Given the description of an element on the screen output the (x, y) to click on. 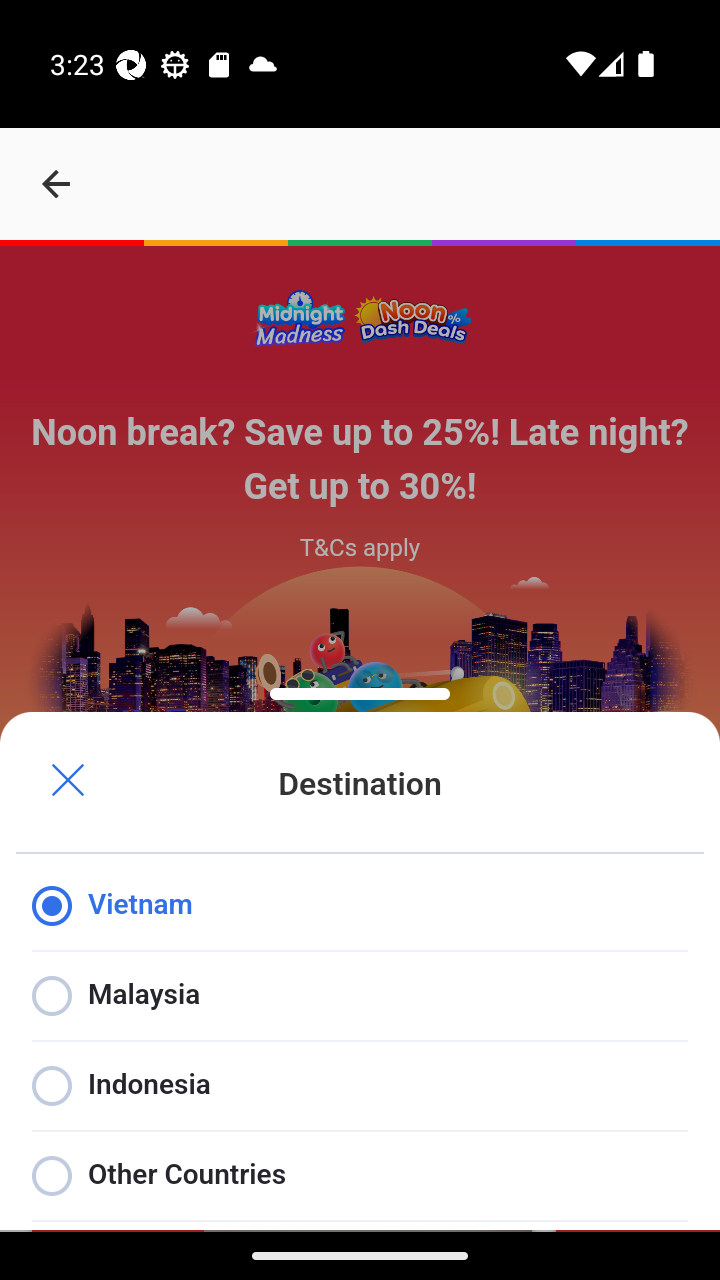
navigation_button (56, 184)
